Given the description of an element on the screen output the (x, y) to click on. 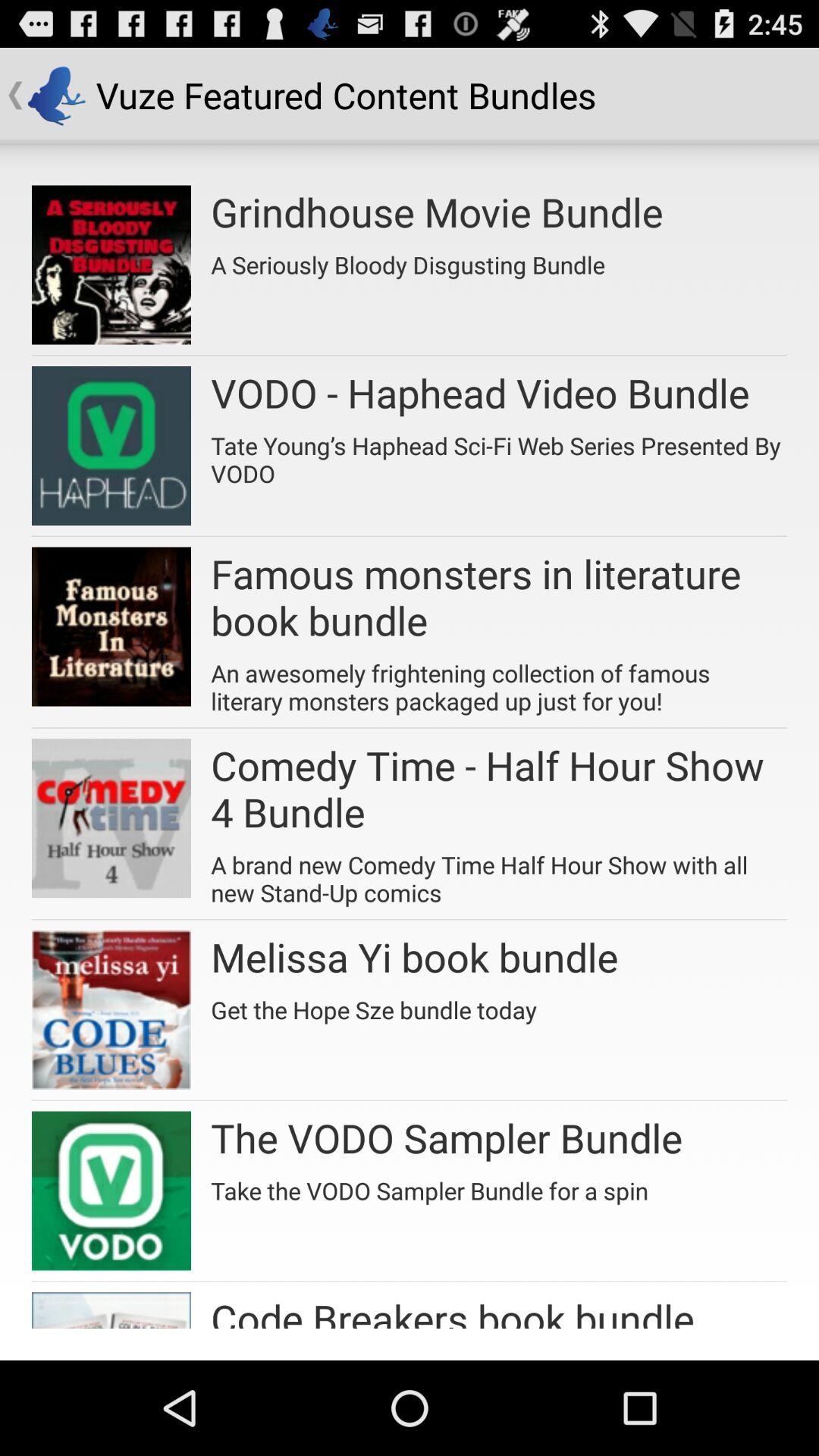
launch the app below the a brand new item (414, 956)
